Given the description of an element on the screen output the (x, y) to click on. 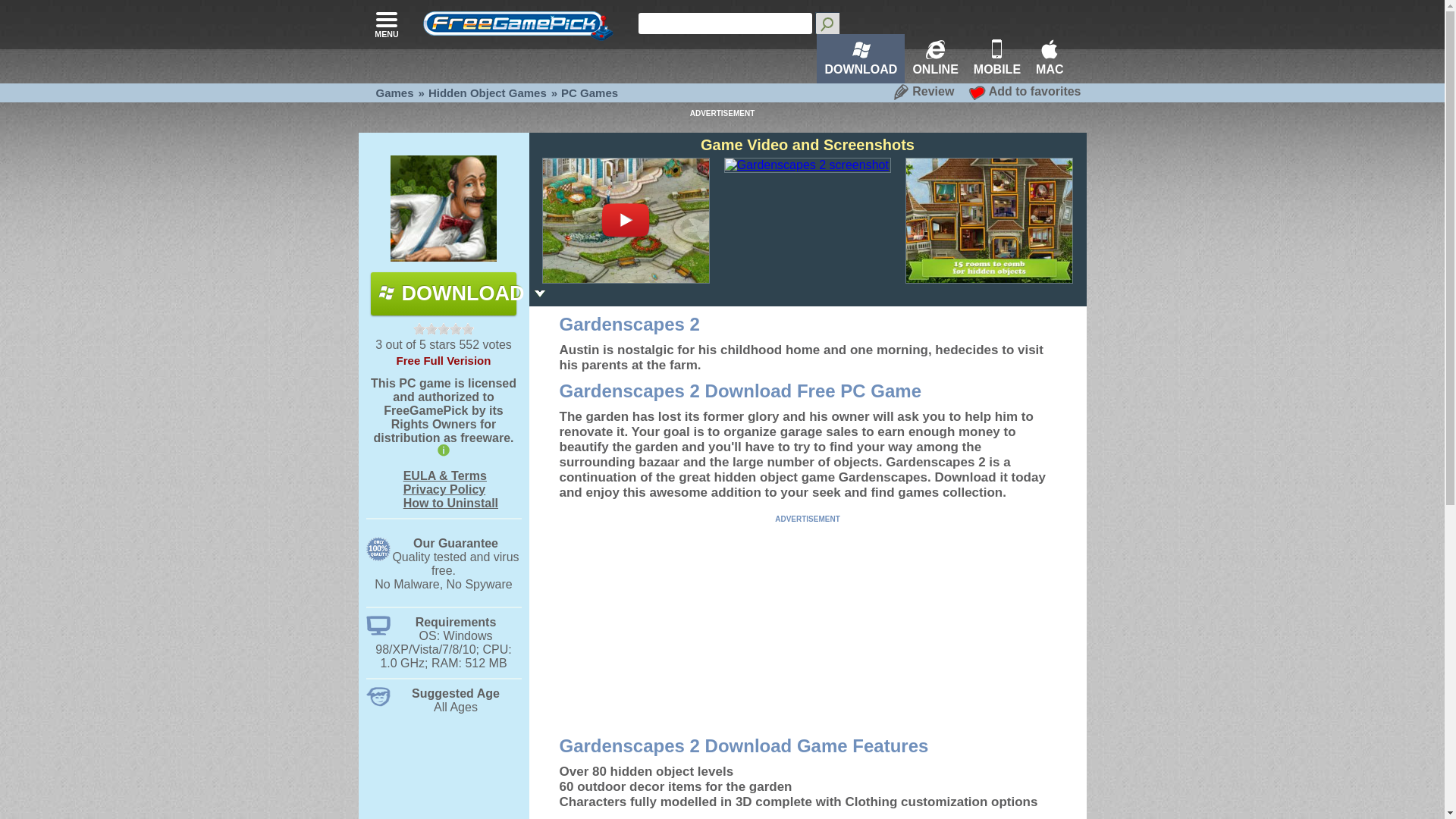
Add to favorites (1024, 91)
Gardenscapes 2 screenshot (807, 165)
search (725, 23)
 DOWNLOAD  (443, 293)
Search (827, 23)
How to Uninstall (450, 502)
Gardenscapes 2 screenshot (989, 220)
search (827, 23)
PC Games (588, 92)
Learn more (443, 418)
